Given the description of an element on the screen output the (x, y) to click on. 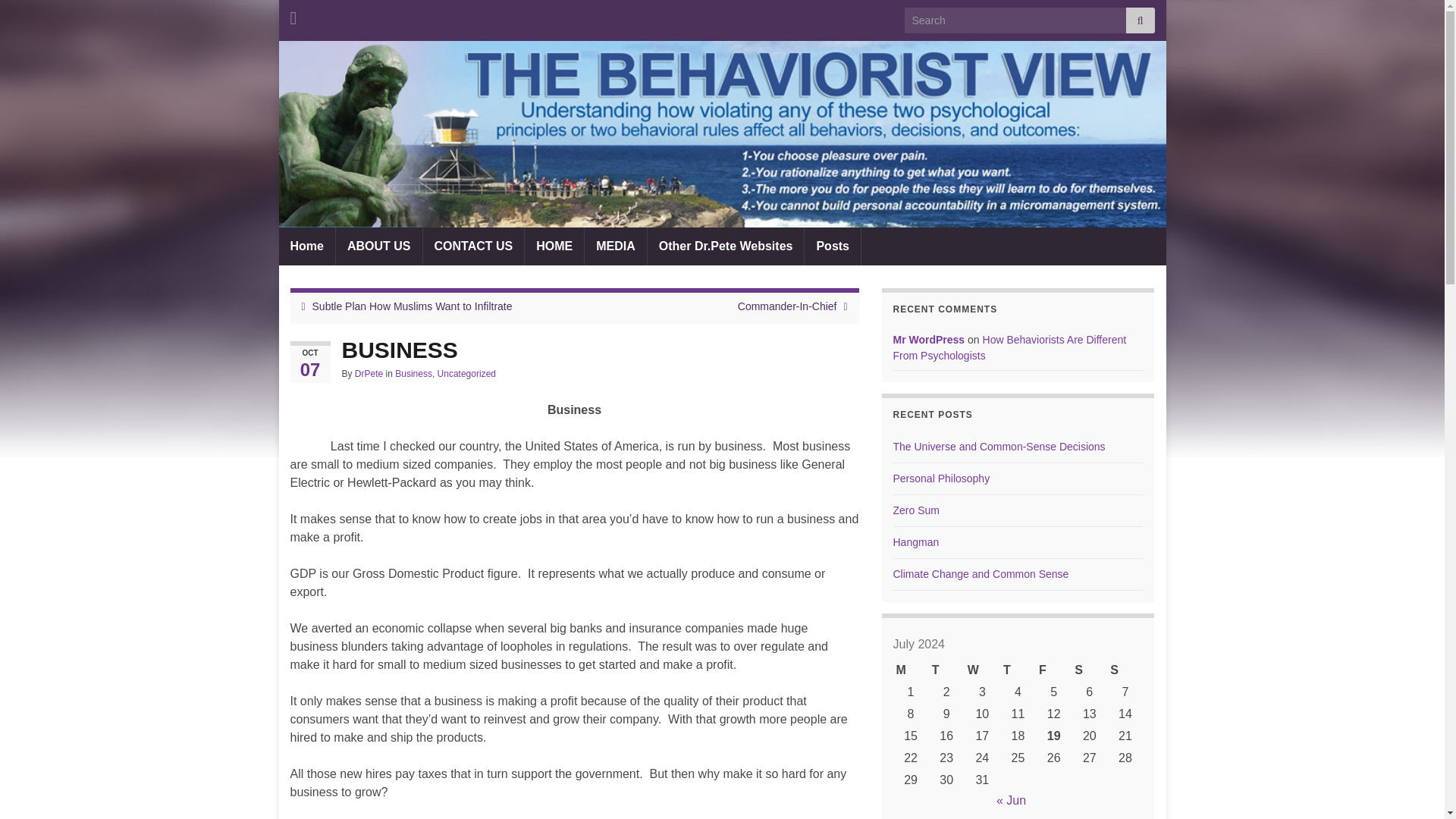
ABOUT US (379, 246)
The Universe and Common-Sense Decisions (999, 446)
Friday (1053, 670)
Sunday (1124, 670)
Zero Sum (916, 510)
Subtle Plan How Muslims Want to Infiltrate (412, 306)
Tuesday (945, 670)
Saturday (1088, 670)
Hangman (916, 541)
HOME (553, 246)
Home (306, 246)
Monday (910, 670)
Climate Change and Common Sense (980, 573)
Uncategorized (467, 373)
Wednesday (981, 670)
